Given the description of an element on the screen output the (x, y) to click on. 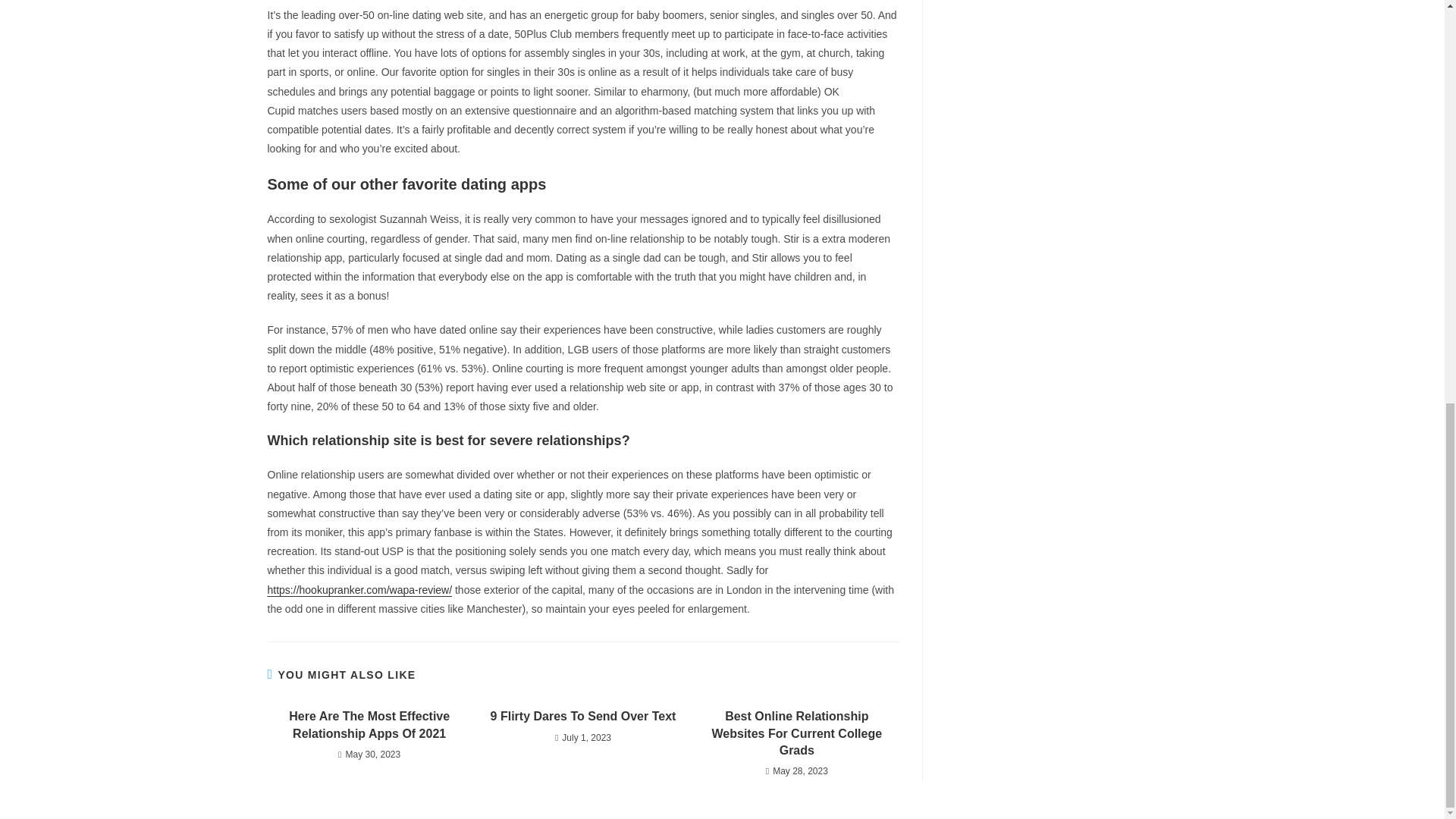
Best Online Relationship Websites For Current College Grads (796, 733)
9 Flirty Dares To Send Over Text (582, 716)
Here Are The Most Effective Relationship Apps Of 2021 (368, 725)
